Given the description of an element on the screen output the (x, y) to click on. 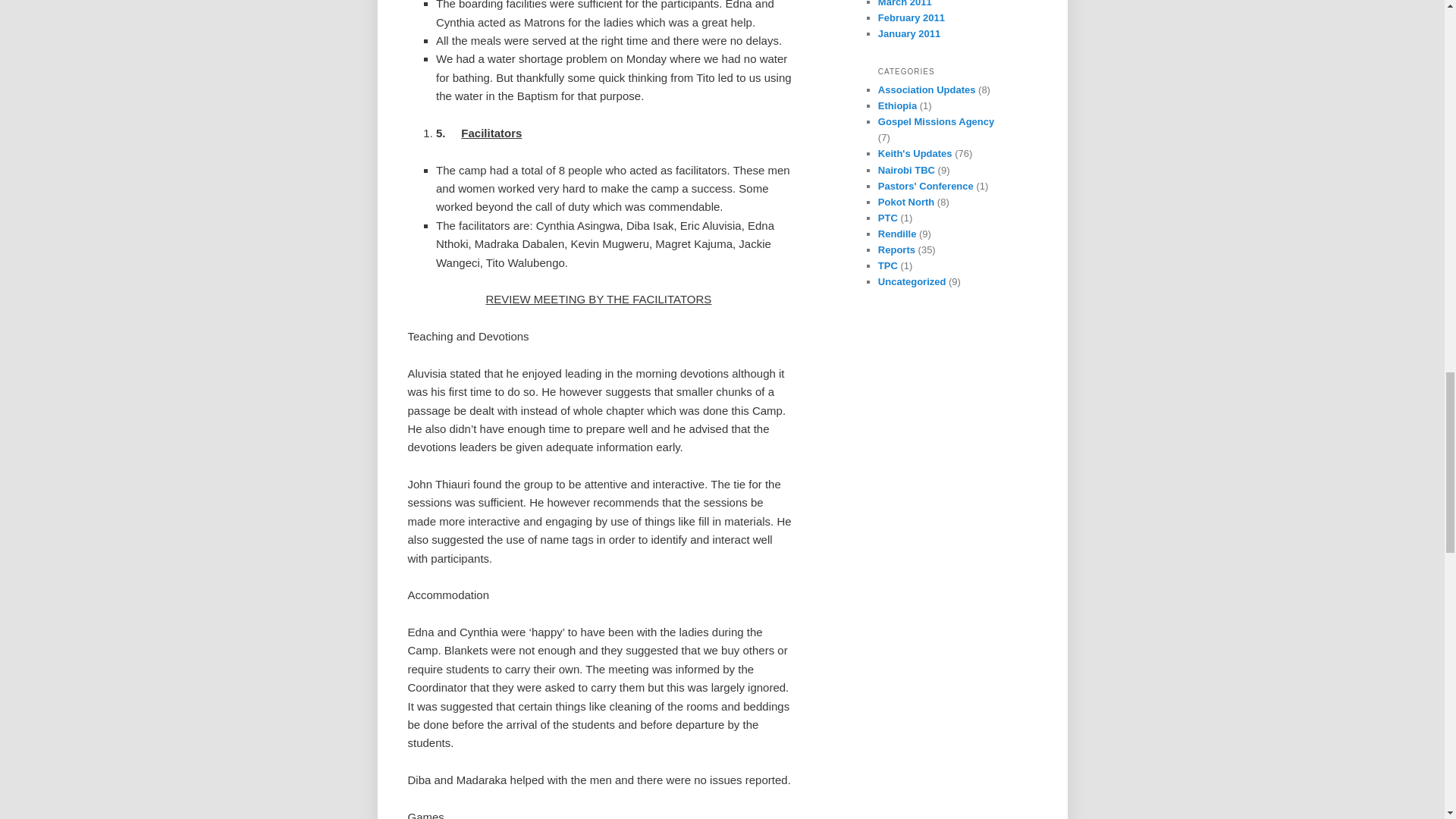
Regular Updates form Keith  (914, 153)
